Given the description of an element on the screen output the (x, y) to click on. 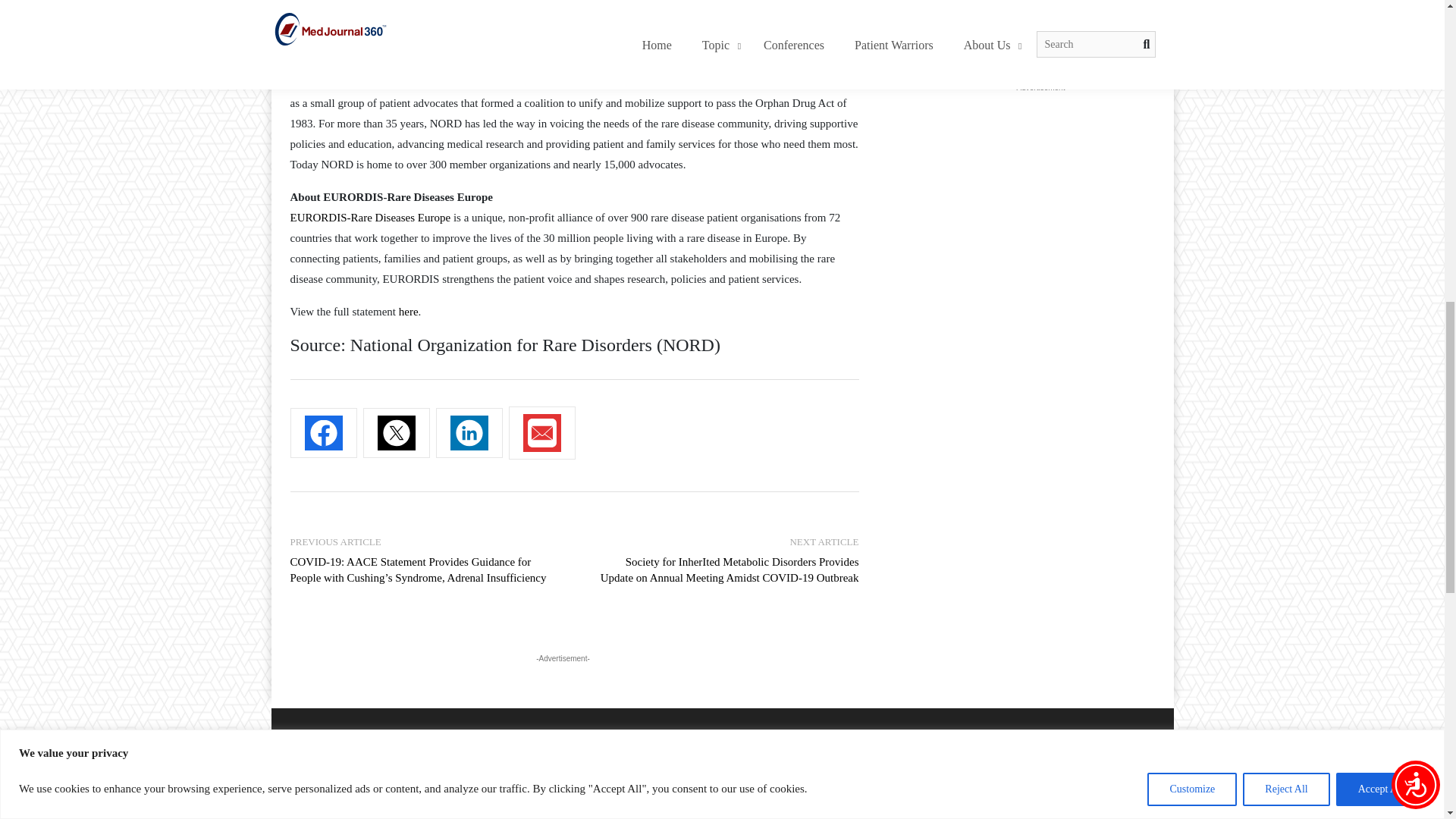
Click to share on Linkedin (468, 432)
Click to share on Twitter (395, 432)
Click to email link (541, 432)
Click to share on Facebook  (322, 432)
